Given the description of an element on the screen output the (x, y) to click on. 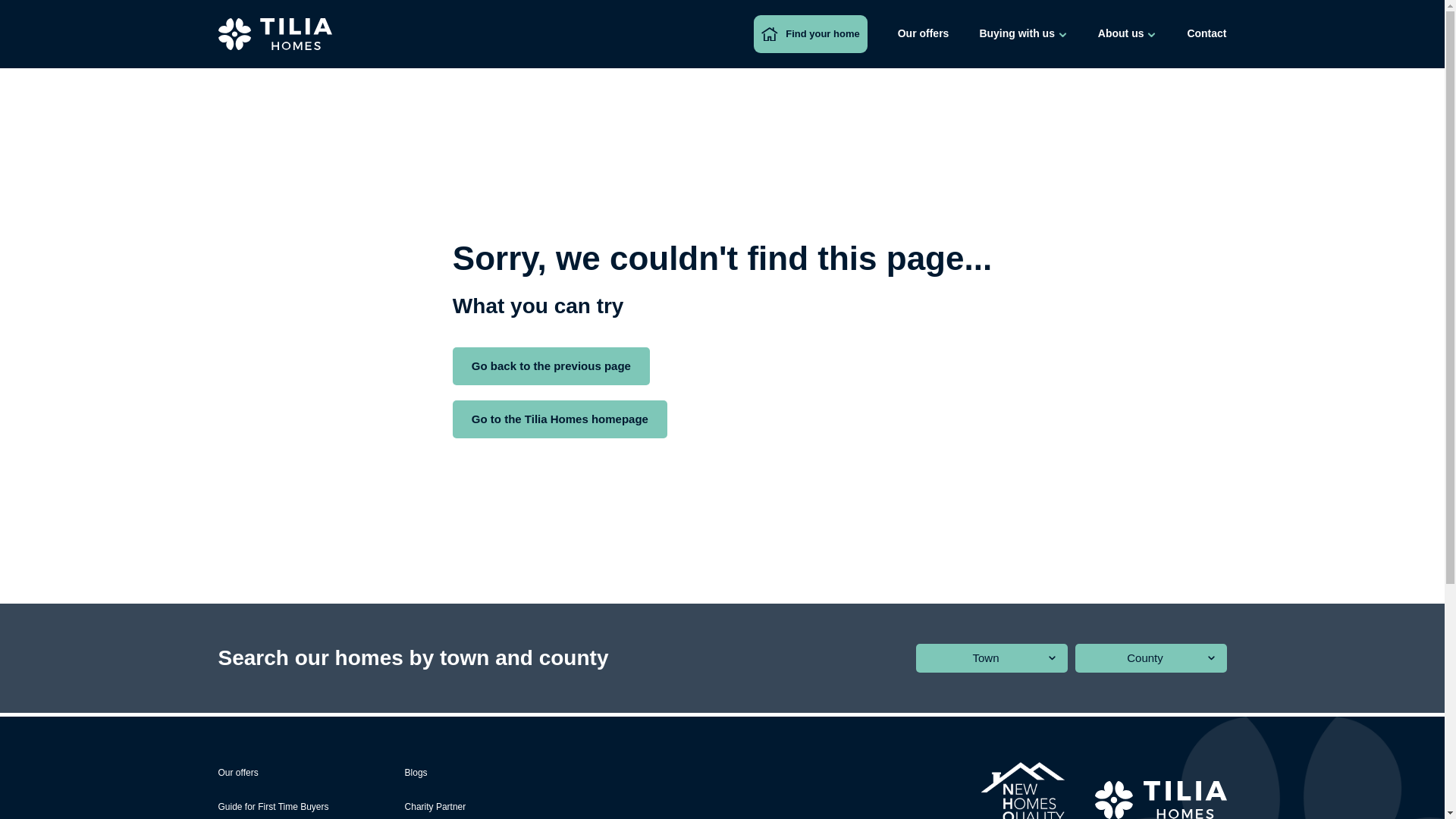
Contact (1205, 34)
Buying with us (1022, 34)
Our offers (923, 34)
About us (1127, 34)
Find your home (810, 34)
